Given the description of an element on the screen output the (x, y) to click on. 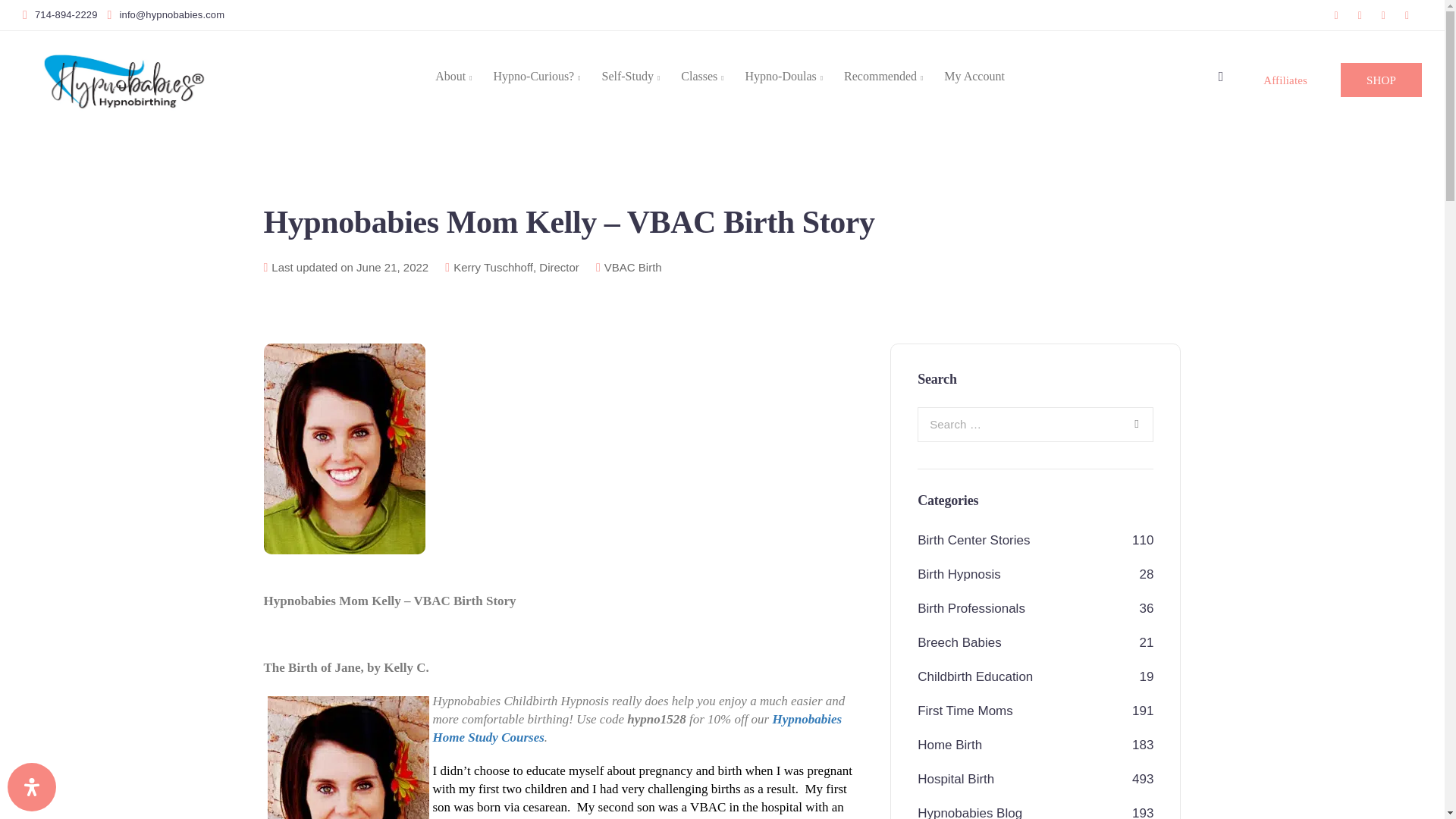
Hypno-Curious? (537, 76)
About Hypnobabies (453, 76)
Hypno-Curious? (537, 76)
714-894-2229 (63, 15)
Classes (701, 76)
Self-Study (631, 76)
About (453, 76)
